Given the description of an element on the screen output the (x, y) to click on. 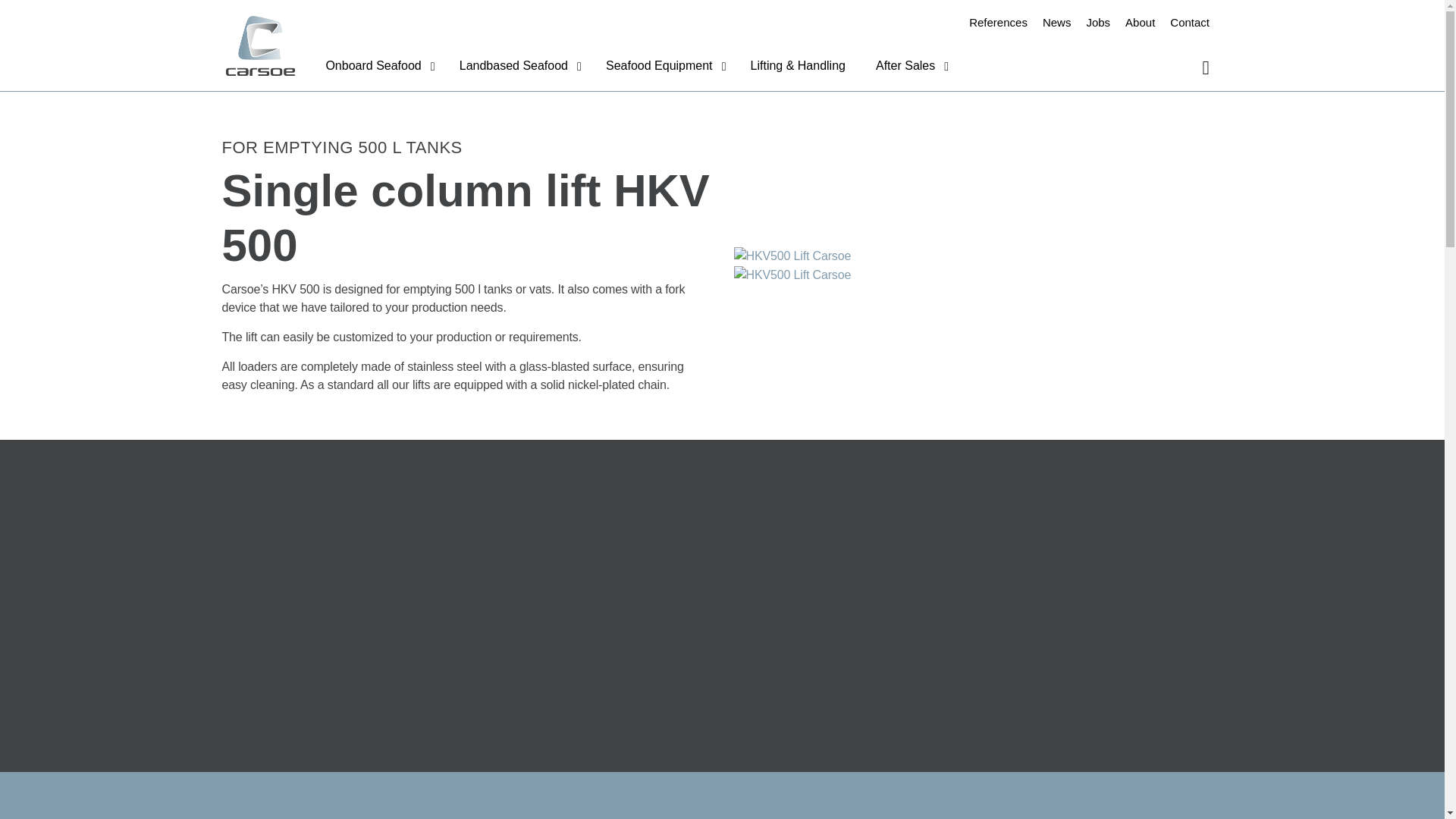
Landbased Seafood (517, 67)
Contact (1189, 22)
Onboard Seafood (377, 67)
Carsoe (260, 45)
After Sales (909, 67)
Seafood Equipment (663, 67)
News (1056, 22)
Skip to main content (722, 16)
References (997, 22)
About (1139, 22)
